Given the description of an element on the screen output the (x, y) to click on. 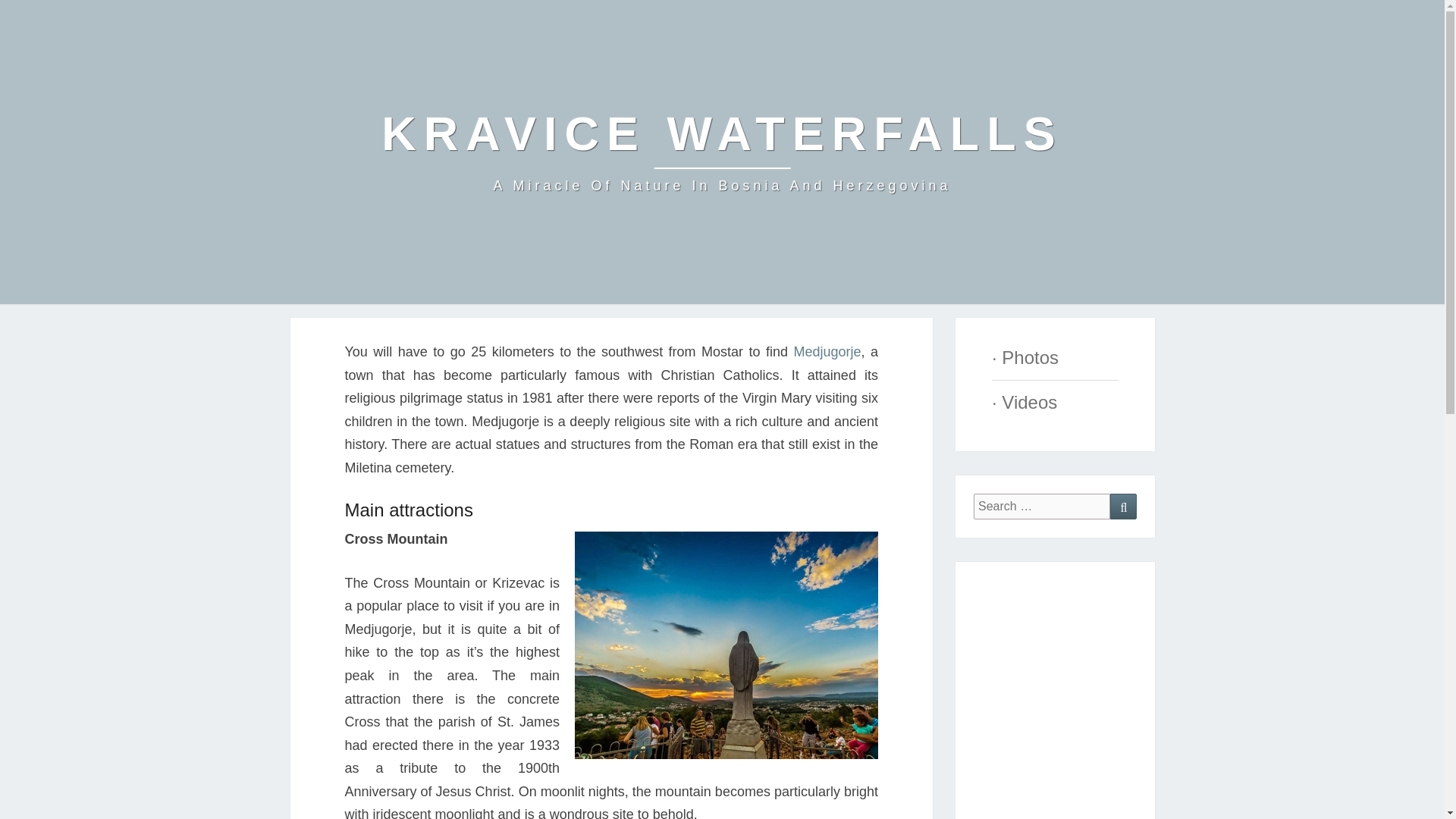
Medjugorje (826, 351)
Search for: (1041, 506)
Kravice Waterfalls (721, 151)
Search (1123, 506)
